Given the description of an element on the screen output the (x, y) to click on. 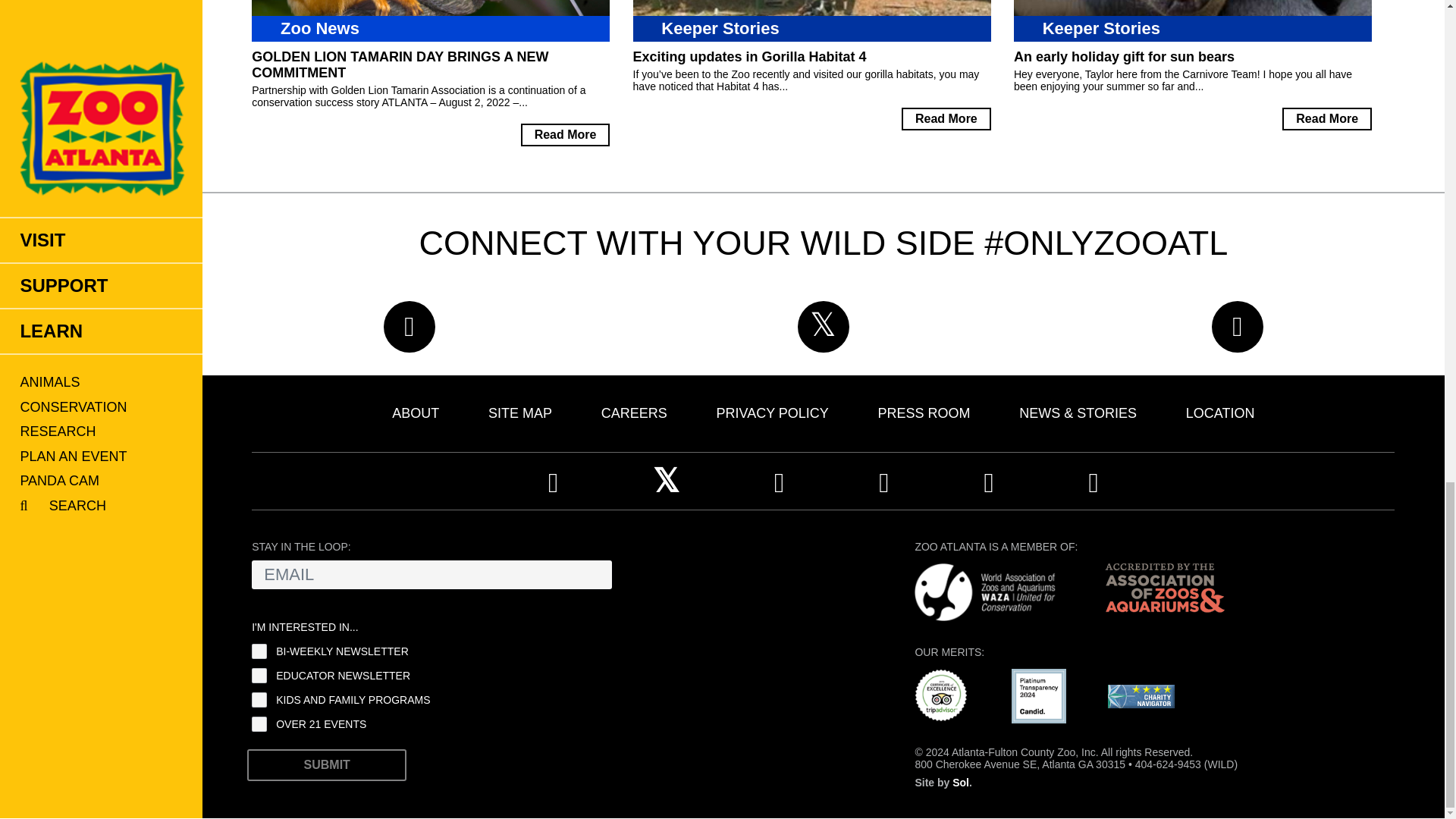
Kids and Family Programs (258, 699)
Submit (326, 764)
Bi-weekly Newsletter (258, 651)
Educator Newsletter (258, 675)
Over 21 Events (258, 724)
